Given the description of an element on the screen output the (x, y) to click on. 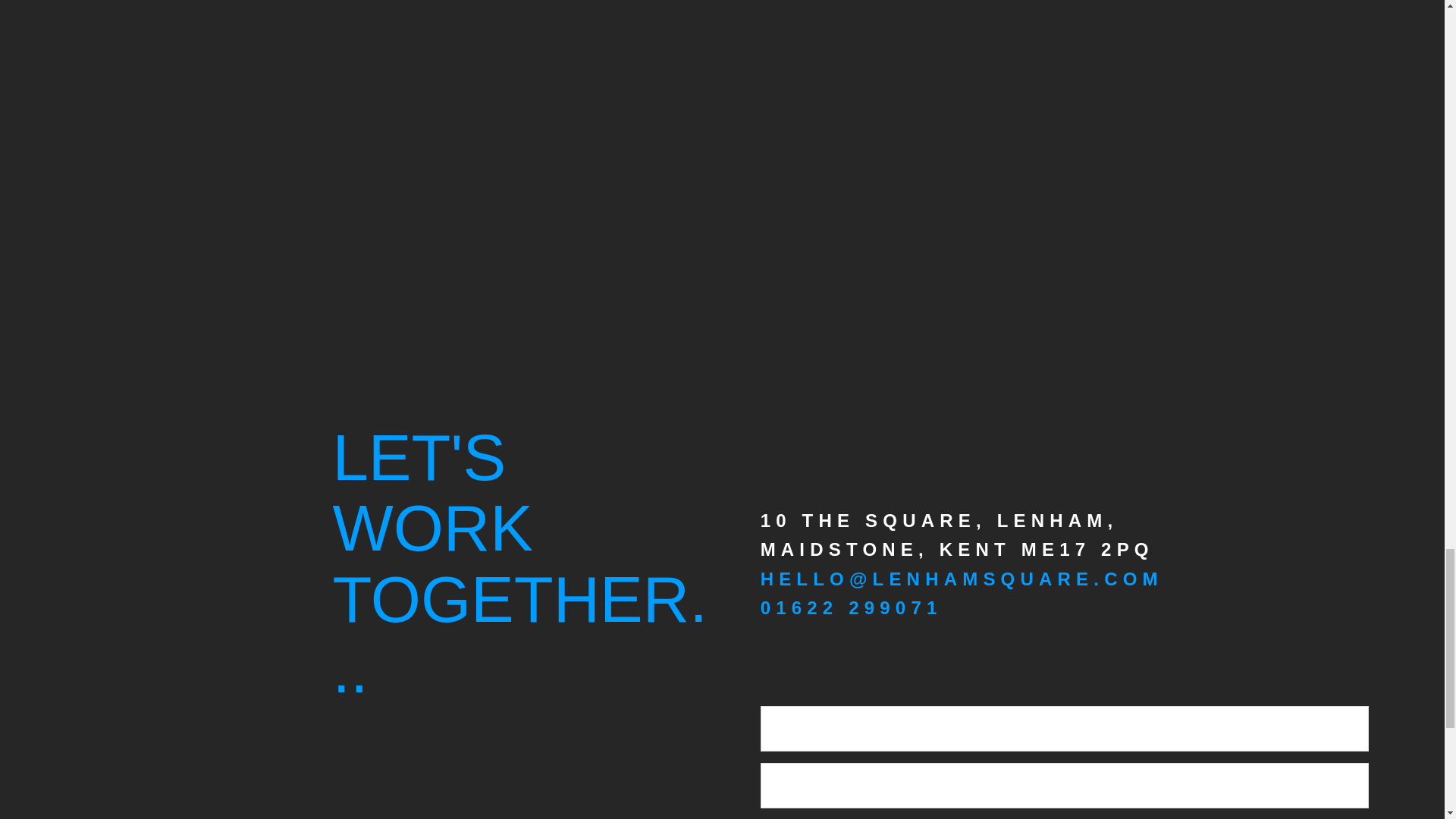
01622 299071 (851, 607)
